Given the description of an element on the screen output the (x, y) to click on. 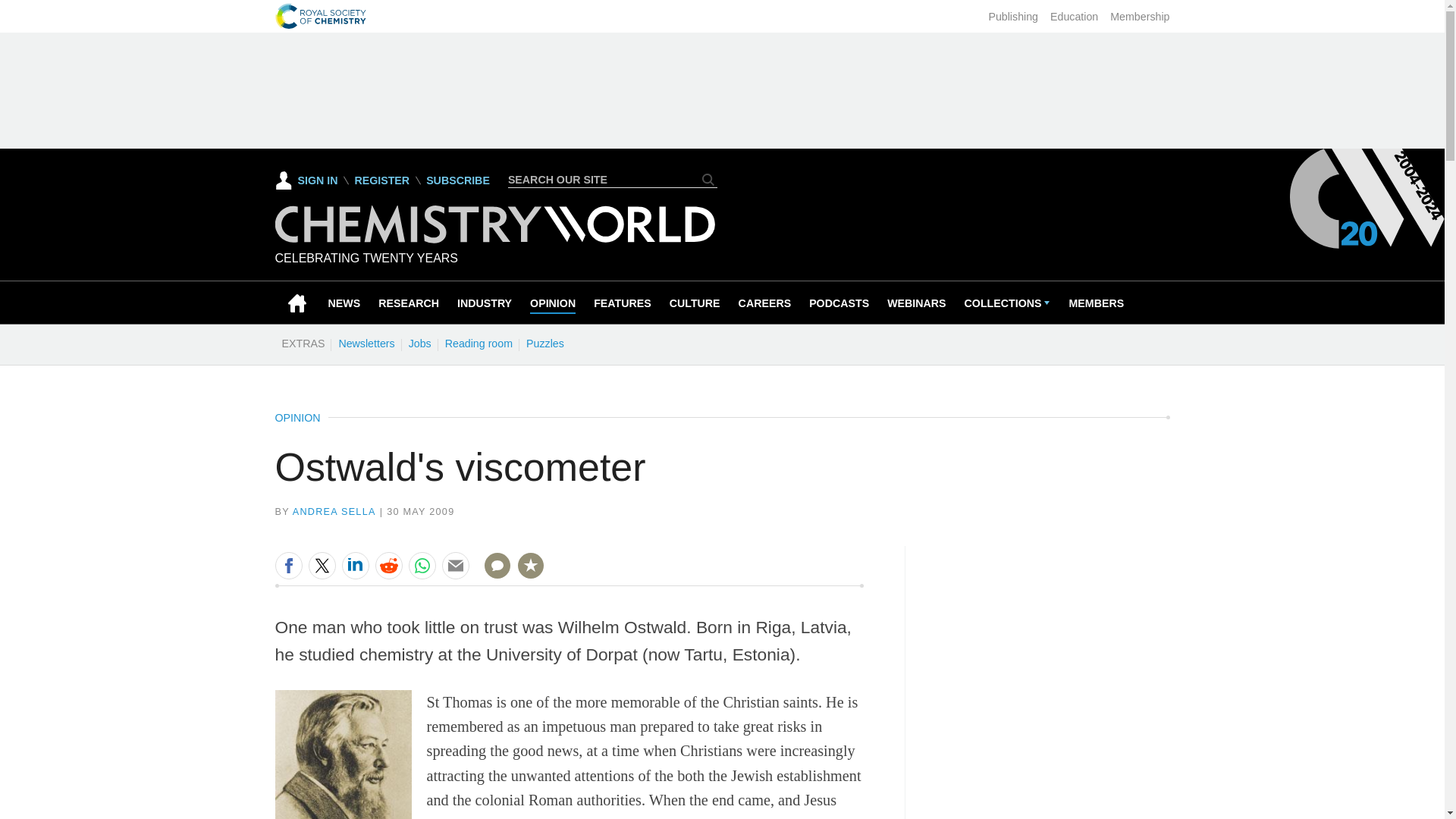
Education (1073, 16)
Share this by email (454, 565)
SUBSCRIBE (457, 180)
Reading room (478, 343)
Puzzles (544, 343)
Membership (1139, 16)
Newsletters (366, 343)
REGISTER (381, 180)
Share this on Reddit (387, 565)
Chemistry World (494, 224)
NO COMMENTS (492, 574)
SIGN IN (306, 180)
Jobs (419, 343)
Chemistry World (494, 238)
Share this on LinkedIn (354, 565)
